Given the description of an element on the screen output the (x, y) to click on. 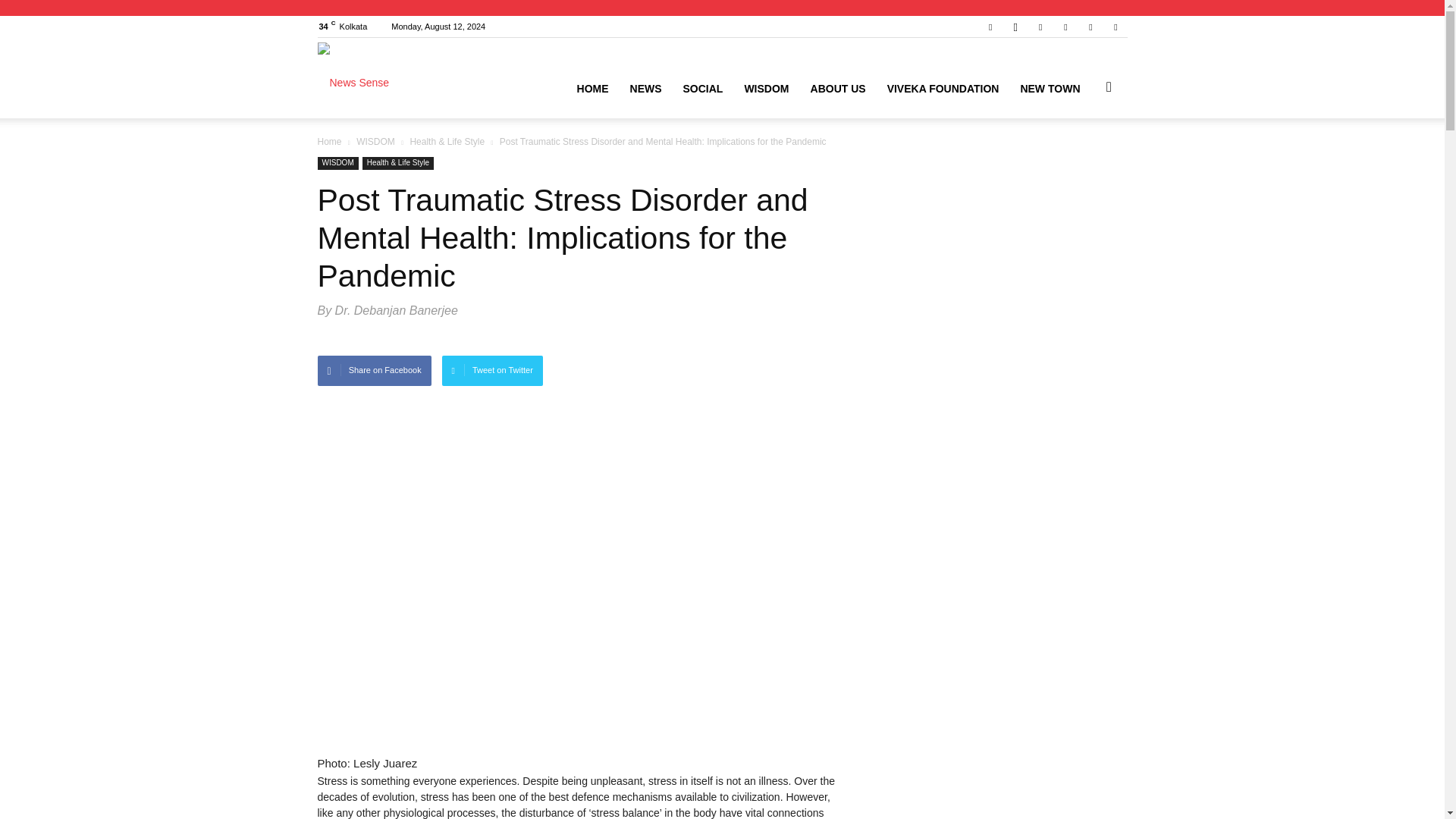
Linkedin (1040, 25)
Instagram (1015, 25)
RSS (1065, 25)
Twitter (1090, 25)
Facebook (989, 25)
News Sense (352, 77)
Youtube (1114, 25)
